Given the description of an element on the screen output the (x, y) to click on. 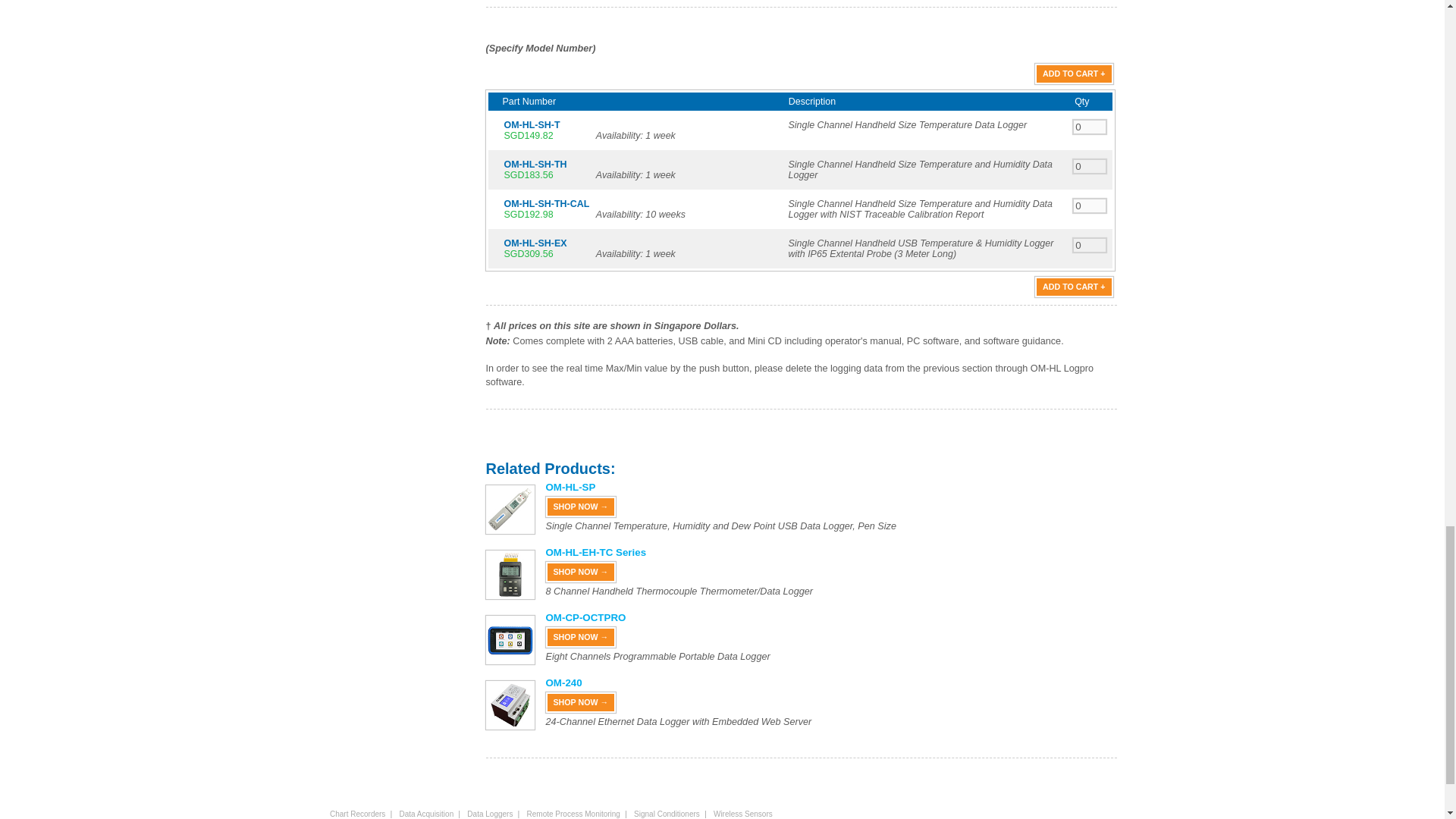
0 (1089, 245)
0 (1089, 165)
0 (1089, 205)
0 (1089, 126)
